Given the description of an element on the screen output the (x, y) to click on. 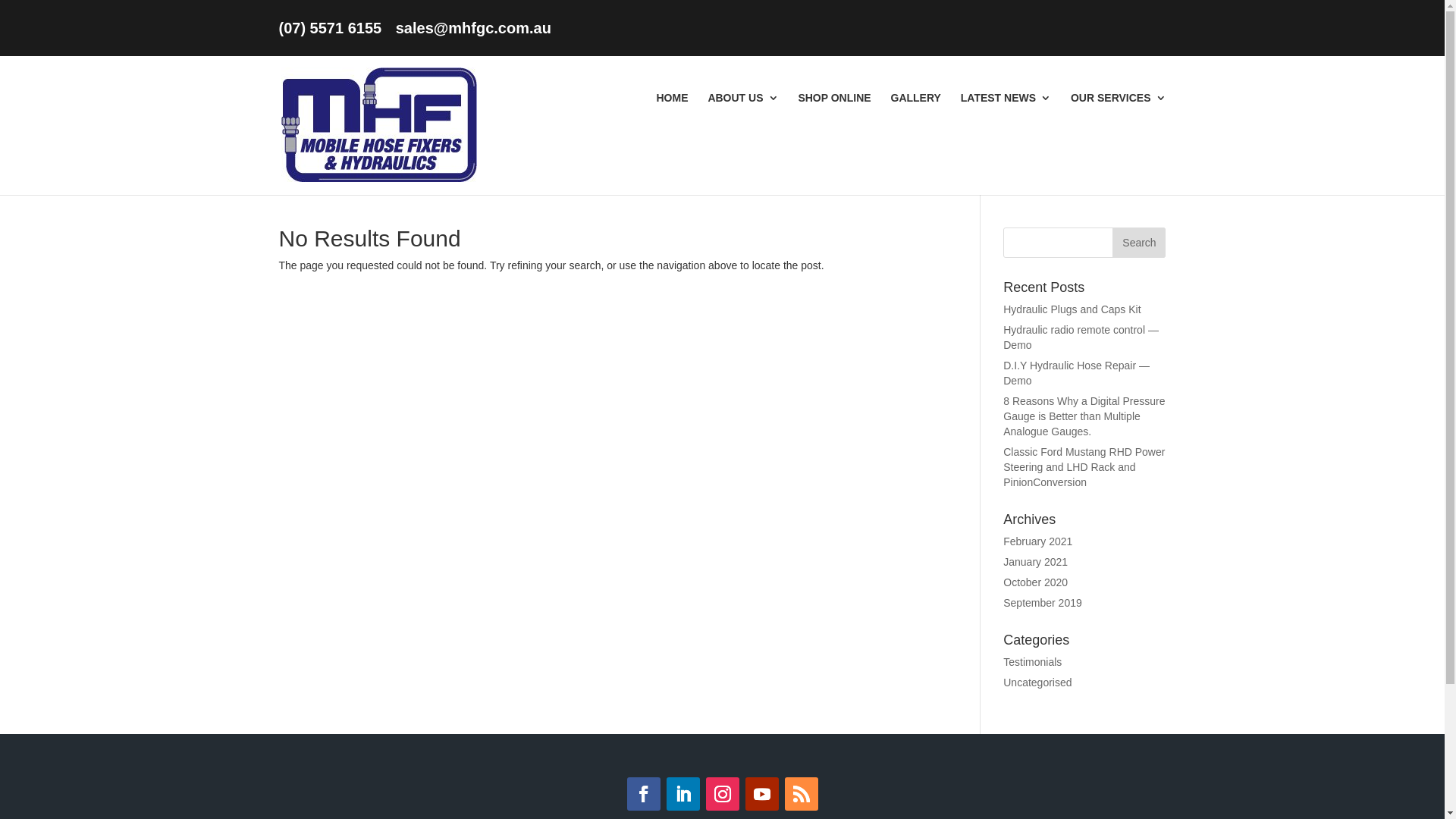
Testimonials Element type: text (1032, 661)
Follow on Facebook Element type: hover (642, 793)
January 2021 Element type: text (1035, 561)
sales@mhfgc.com.au Element type: text (473, 27)
February 2021 Element type: text (1037, 541)
Follow on Youtube Element type: hover (761, 793)
October 2020 Element type: text (1035, 582)
Uncategorised Element type: text (1037, 682)
ABOUT US Element type: text (742, 99)
Search Element type: text (1138, 242)
LATEST NEWS Element type: text (1005, 99)
GALLERY Element type: text (915, 99)
HOME Element type: text (672, 99)
September 2019 Element type: text (1042, 602)
Follow on LinkedIn Element type: hover (682, 793)
Hydraulic Plugs and Caps Kit Element type: text (1071, 309)
OUR SERVICES Element type: text (1118, 99)
SHOP ONLINE Element type: text (833, 99)
Follow on Instagram Element type: hover (721, 793)
Follow on RSS Element type: hover (800, 793)
